Given the description of an element on the screen output the (x, y) to click on. 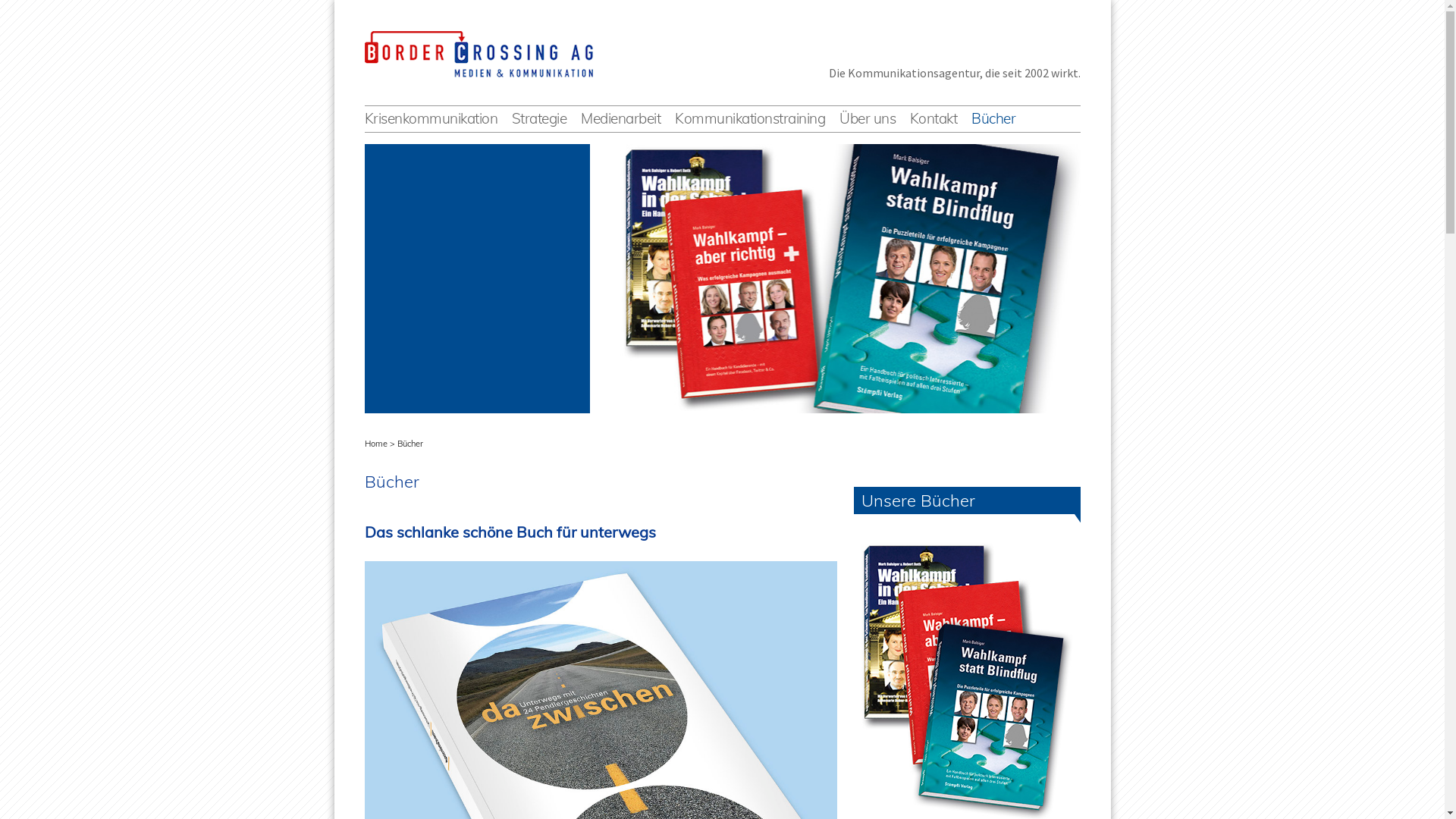
Team Element type: text (915, 132)
Home Element type: text (375, 443)
Medienarbeit Element type: text (620, 118)
Strategie Element type: text (539, 118)
Kommunikationstraining Element type: text (749, 118)
Krisenkommunikation Element type: text (430, 118)
Kontakt Element type: text (933, 118)
